Given the description of an element on the screen output the (x, y) to click on. 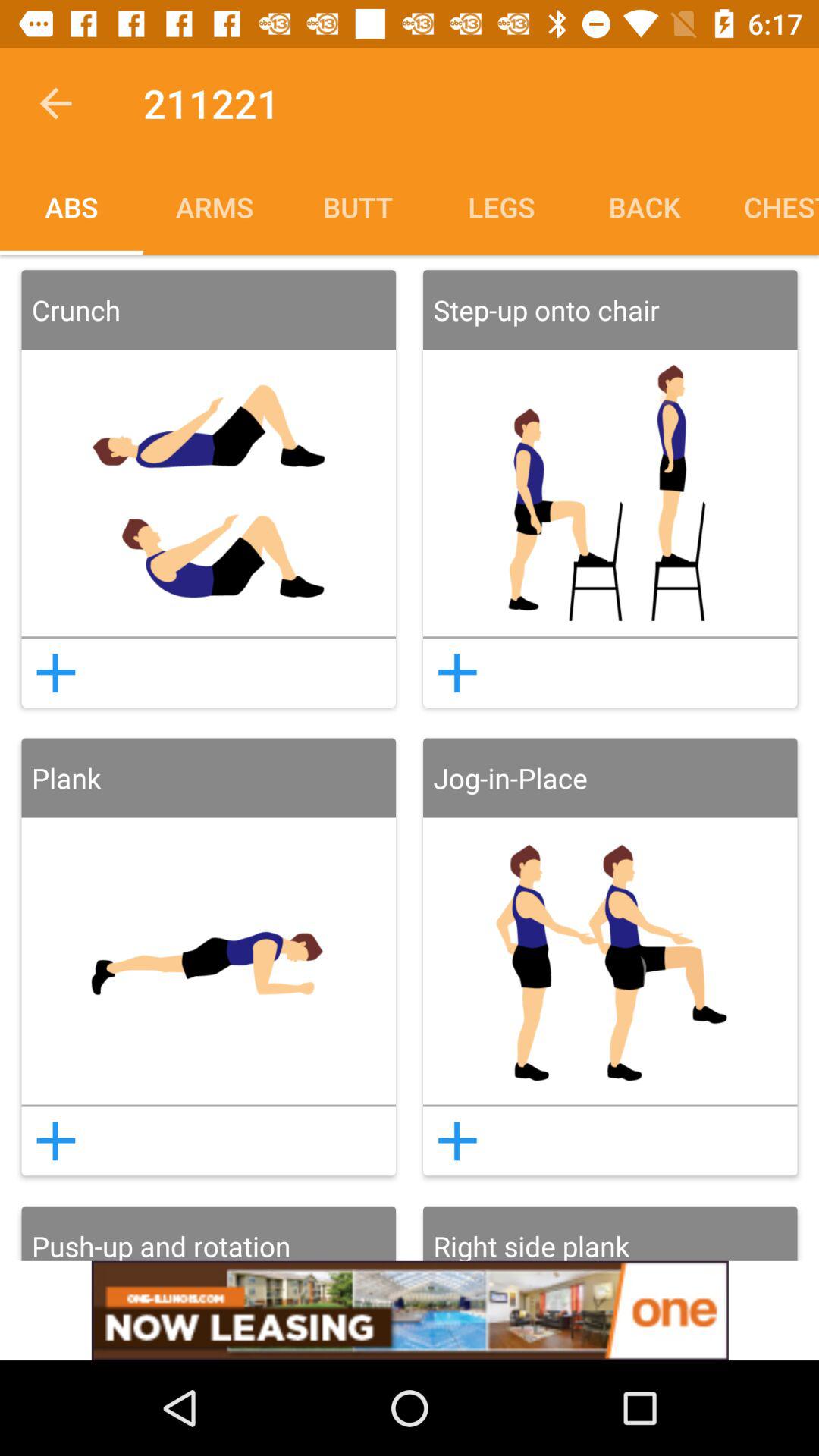
advertisement (409, 1310)
